Given the description of an element on the screen output the (x, y) to click on. 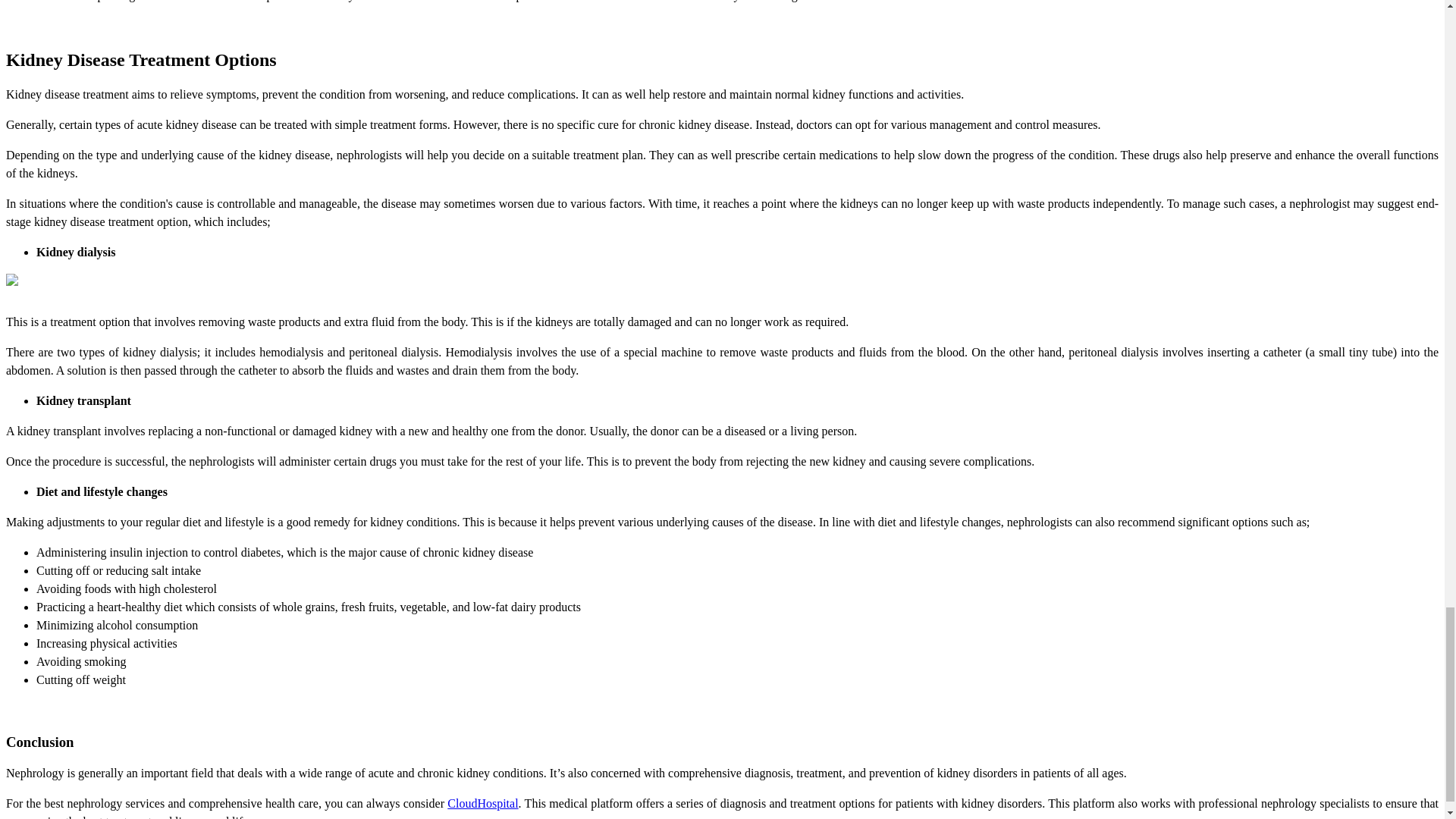
CloudHospital (482, 802)
